Given the description of an element on the screen output the (x, y) to click on. 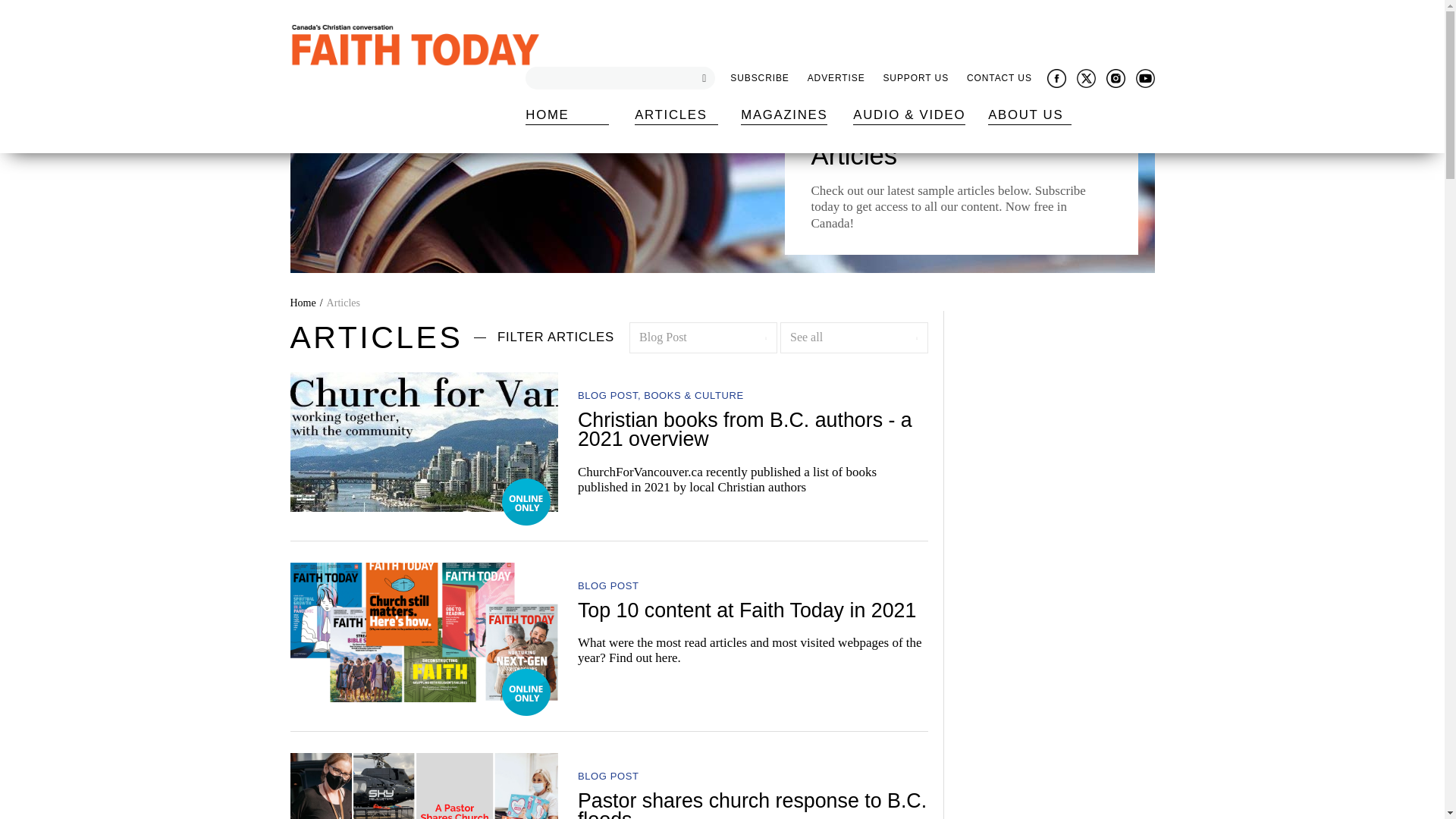
Church for Vancouver (423, 441)
ADVERTISE (835, 78)
Search (11, 8)
Search (699, 77)
SUBSCRIBE (759, 78)
BC-flood-post (423, 785)
ARTICLES (675, 115)
SUPPORT US (915, 78)
HOME (566, 115)
